Given the description of an element on the screen output the (x, y) to click on. 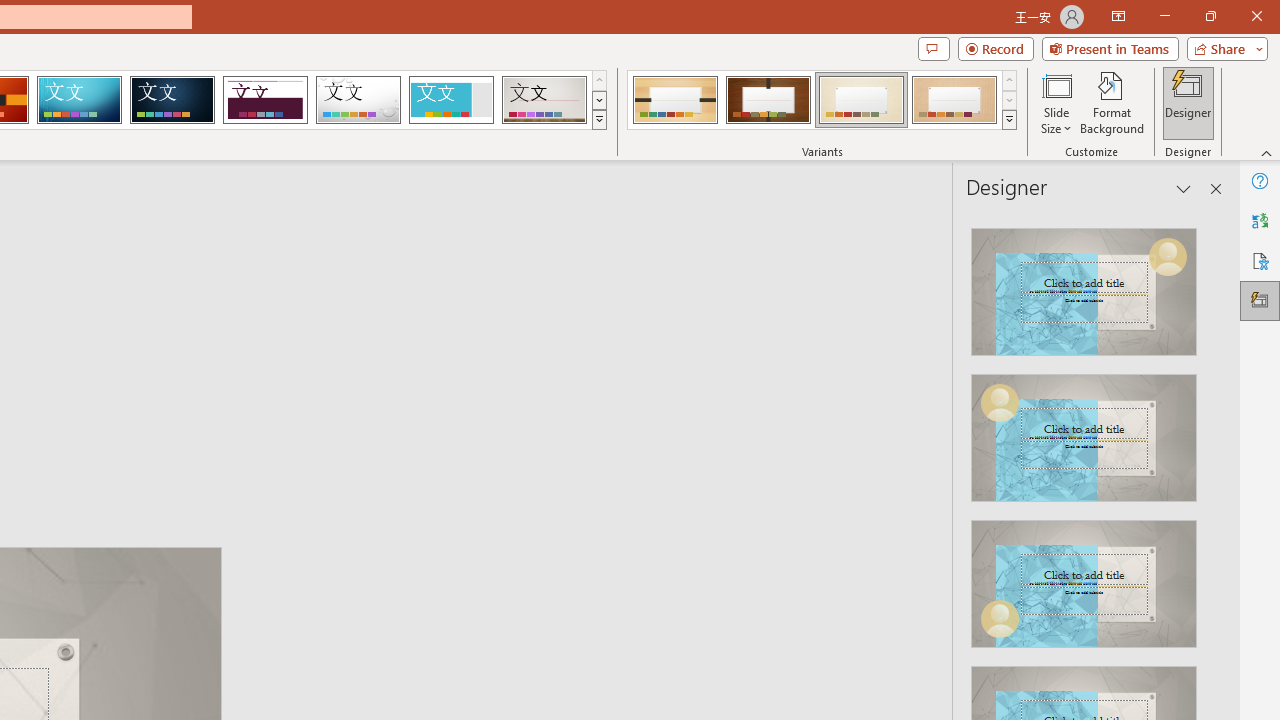
Editor actions (1153, 322)
Title actions (1178, 265)
Run or Debug... (1096, 321)
Toggle Secondary Side Bar (Ctrl+Alt+B) (1201, 265)
Customize Layout... (1248, 265)
Class: next-menu next-hoz widgets--iconMenu--BFkiHRM (1131, 202)
icon (1131, 201)
Split Editor Right (Ctrl+\) [Alt] Split Editor Down (1183, 321)
Toggle Panel (Ctrl+J) (1155, 265)
More Actions... (1230, 321)
